Given the description of an element on the screen output the (x, y) to click on. 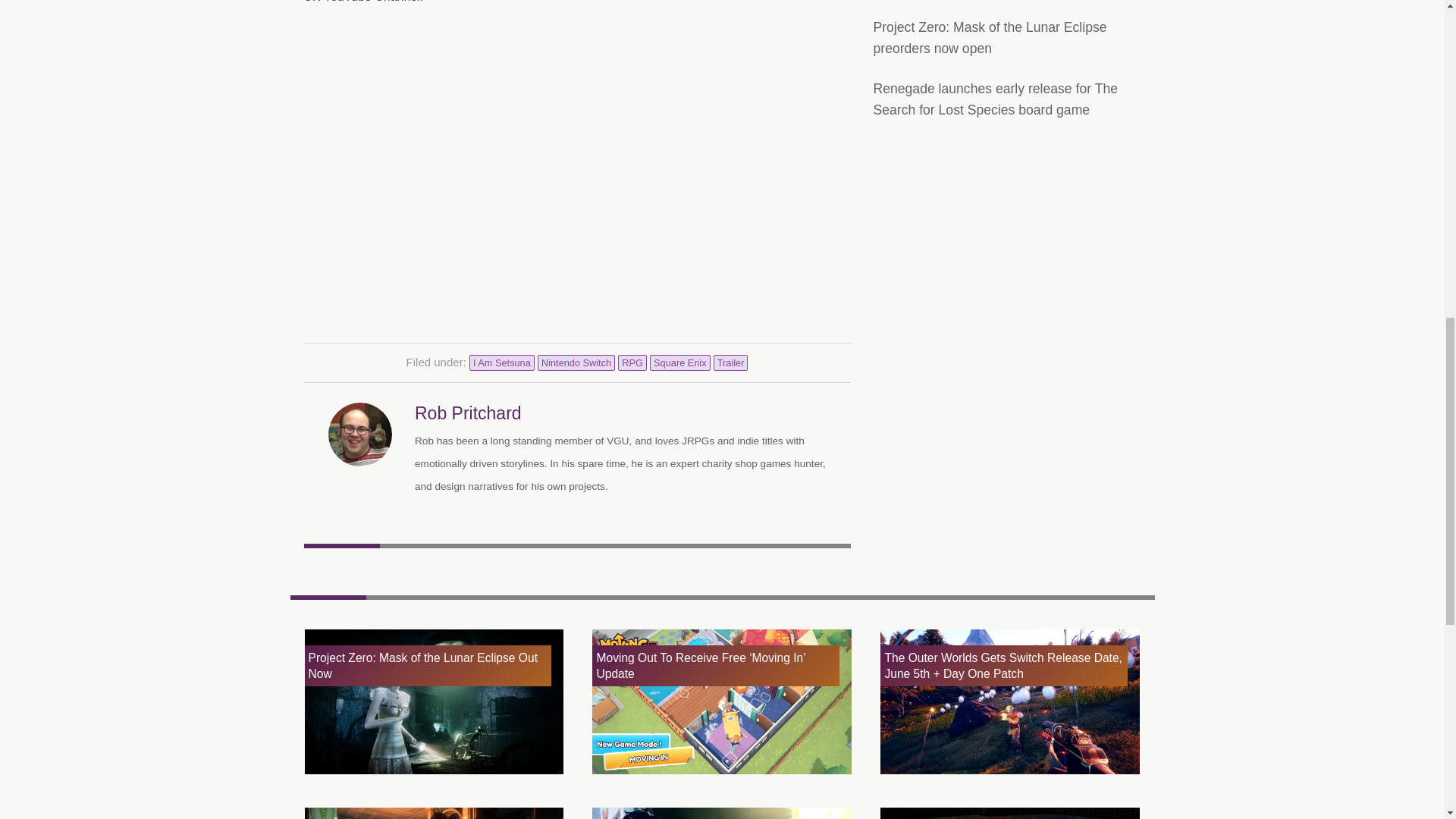
Nintendo Switch (575, 362)
BioShock, XCOM and Borderlands Coming to Switch (434, 811)
Rob Pritchard (467, 413)
Square Enix (679, 362)
Project Zero: Mask of the Lunar Eclipse Out Now (434, 702)
Trailer (730, 362)
I Am Setsuna (501, 362)
RPG (631, 362)
Posts by Rob Pritchard (467, 413)
Persona 5 Royal Change The World Trailer Released By Atlus (1009, 811)
Project Zero: Mask of the Lunar Eclipse preorders now open (989, 37)
Persona 5 Royal Accolades Trailer Released By Atlus (721, 811)
